Given the description of an element on the screen output the (x, y) to click on. 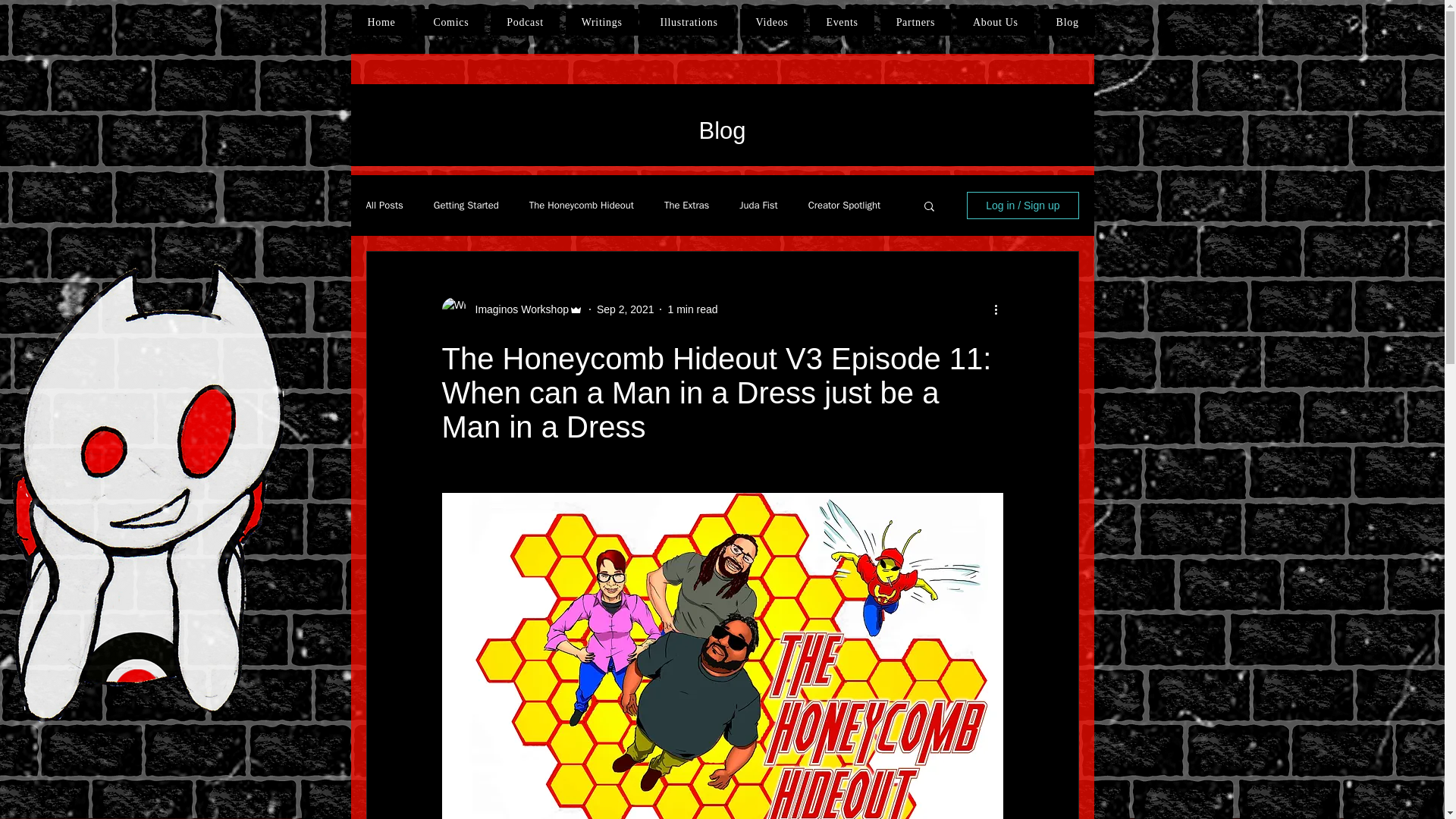
Videos (772, 22)
Sep 2, 2021 (624, 309)
1 min read (691, 309)
Comics (450, 22)
The Extras (686, 205)
Illustrations (689, 22)
The Honeycomb Hideout (581, 205)
Events (841, 22)
Getting Started (466, 205)
Home (382, 22)
